Given the description of an element on the screen output the (x, y) to click on. 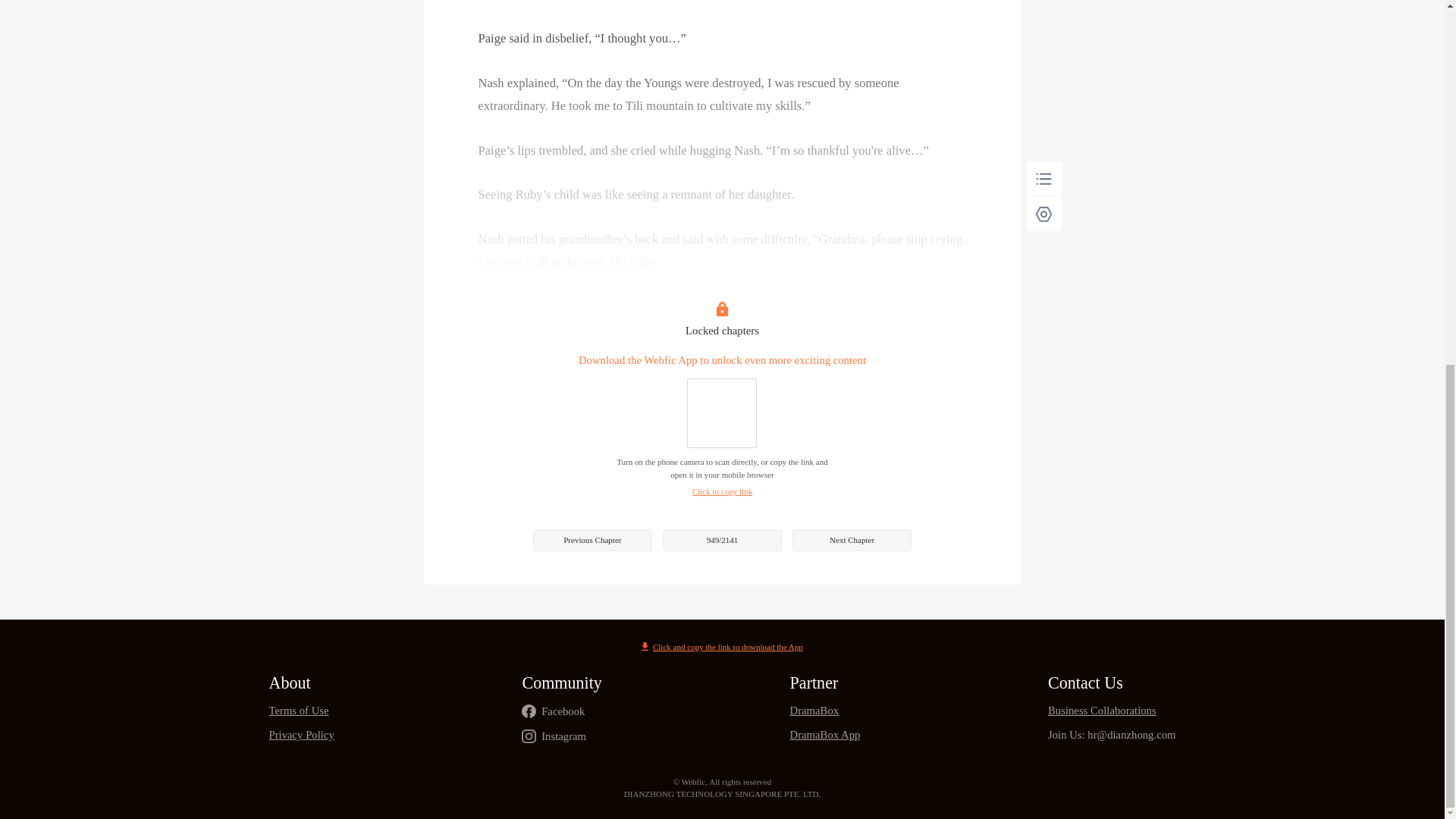
Instagram (563, 736)
Terms of Use (300, 710)
Next Chapter (851, 540)
Privacy Policy (300, 735)
Facebook (563, 711)
Previous Chapter (591, 540)
DramaBox App (825, 735)
DramaBox (825, 710)
Business Collaborations (1112, 710)
